Given the description of an element on the screen output the (x, y) to click on. 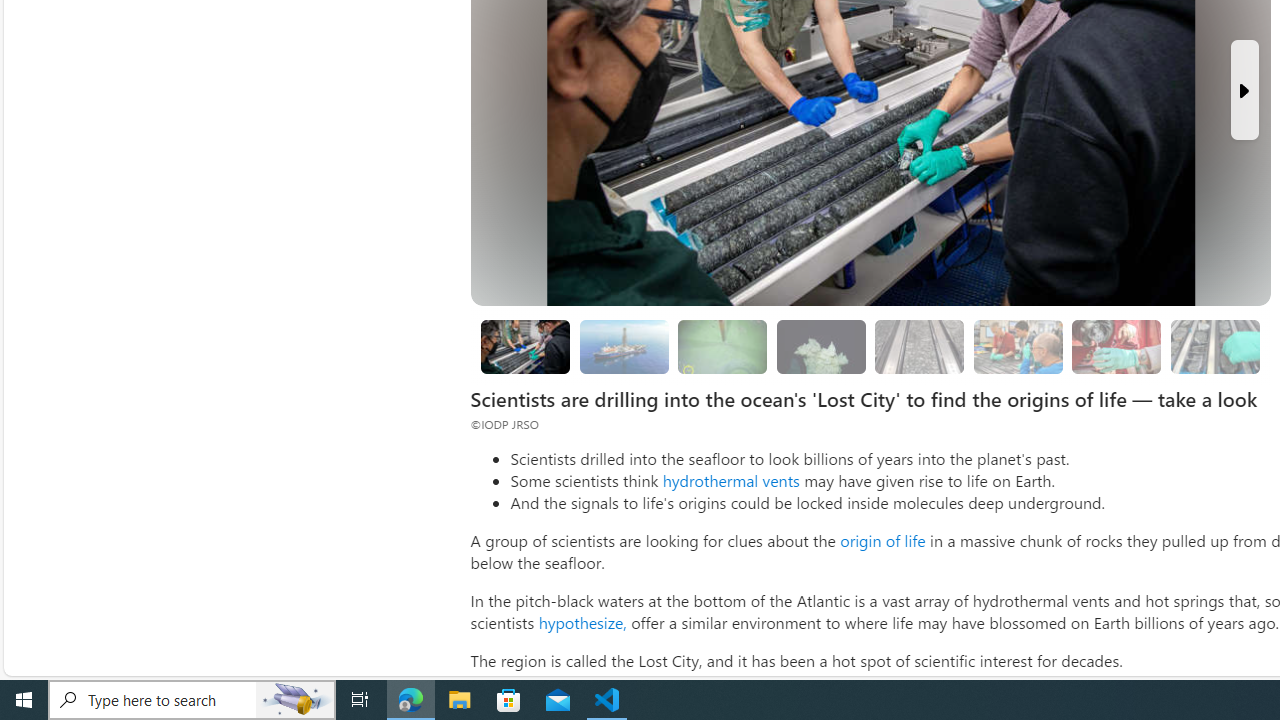
Looking for evidence of oxygen-free life (1017, 346)
Looking for evidence of oxygen-free life (1017, 346)
origin of life (882, 539)
